Given the description of an element on the screen output the (x, y) to click on. 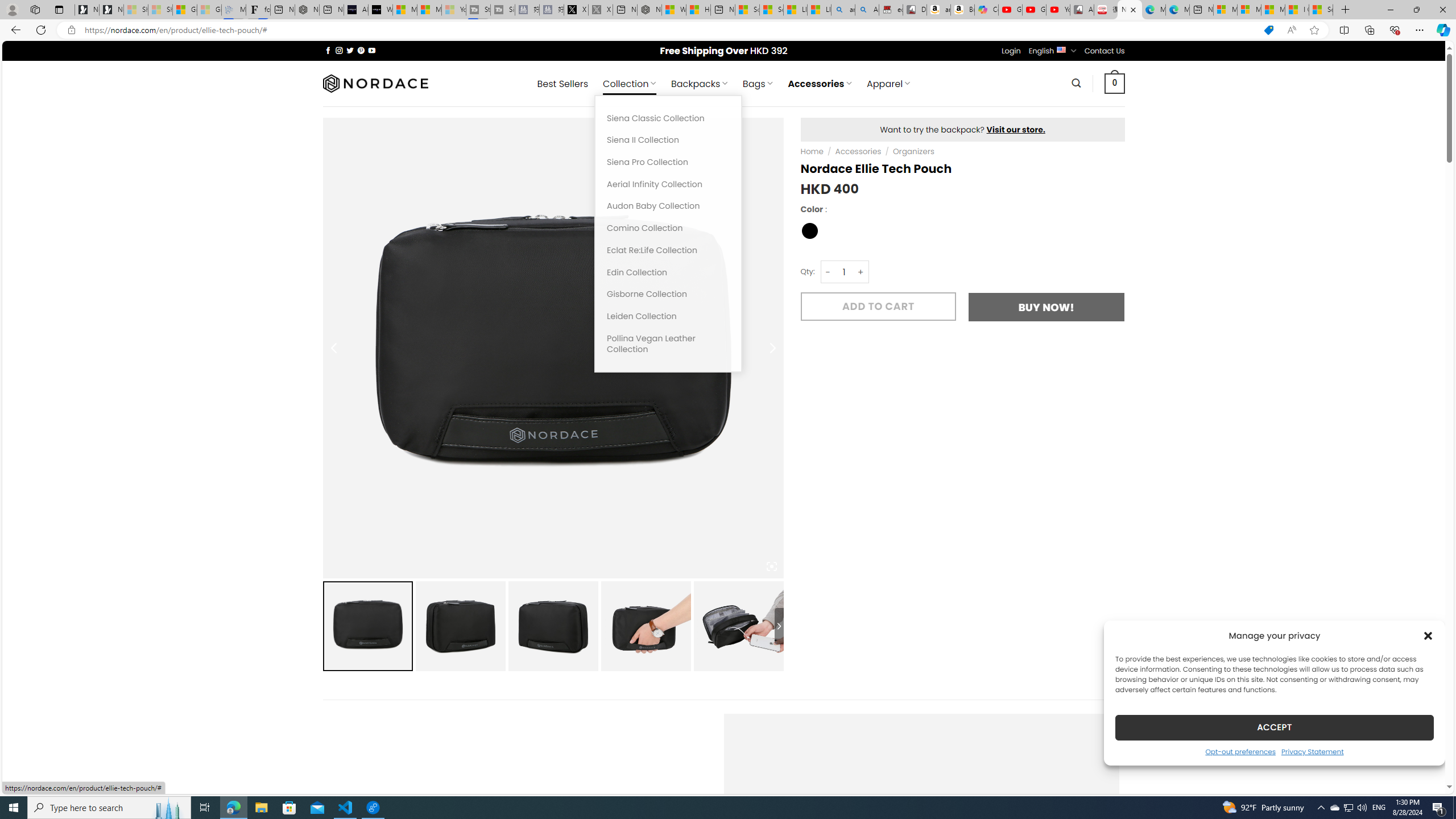
Amazon Echo Dot PNG - Search Images (866, 9)
Add this page to favorites (Ctrl+D) (1314, 29)
AI Voice Changer for PC and Mac - Voice.ai (355, 9)
I Gained 20 Pounds of Muscle in 30 Days! | Watch (1296, 9)
This site has coupons! Shopping in Microsoft Edge (1268, 29)
Gisborne Collection (668, 294)
Siena Pro Collection (668, 162)
Contact Us (1104, 50)
Wildlife - MSN (673, 9)
Address and search bar (669, 29)
Home (812, 151)
Back (13, 29)
